Given the description of an element on the screen output the (x, y) to click on. 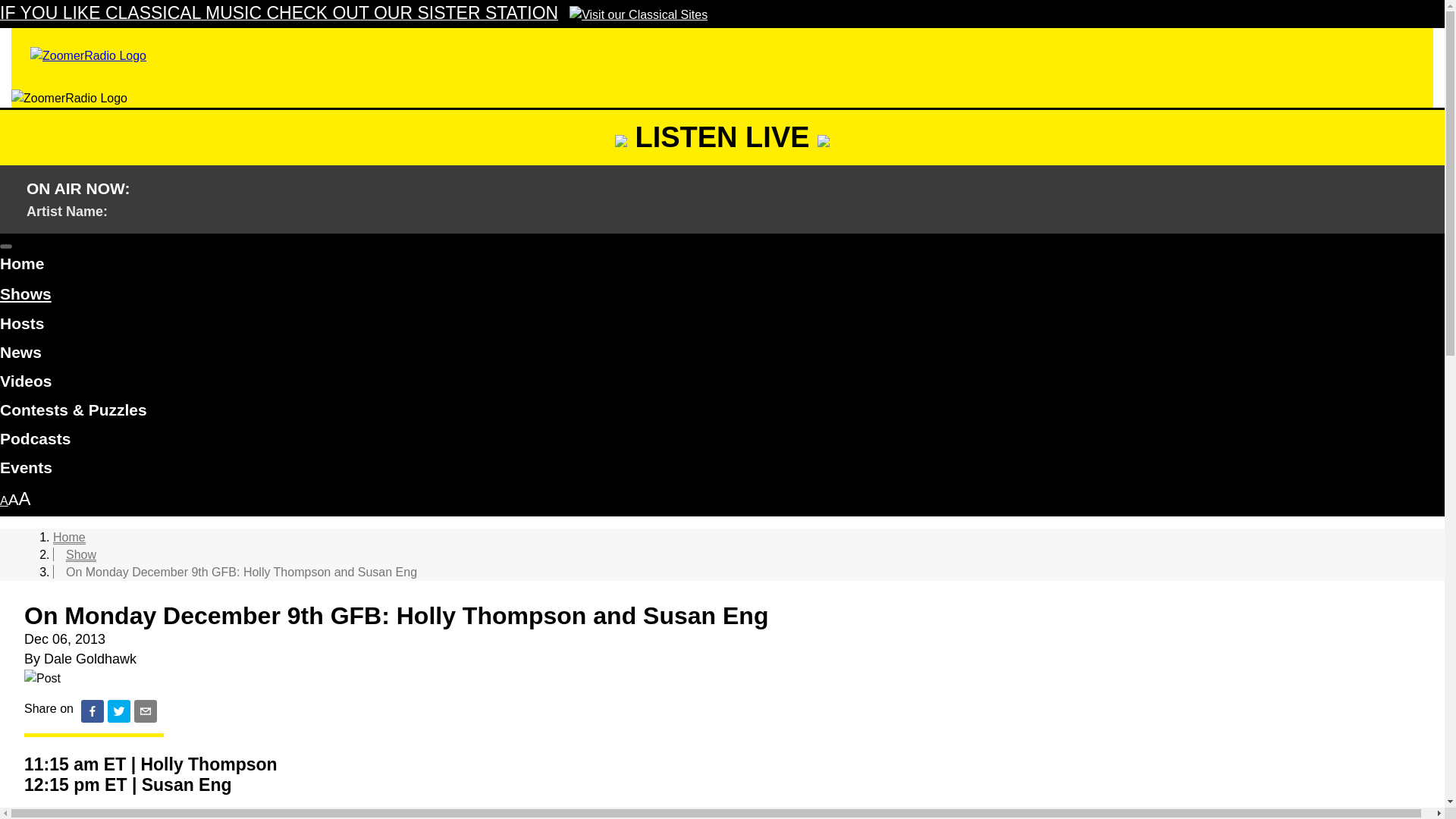
Home (68, 537)
Hosts (722, 326)
IF YOU LIKE CLASSICAL MUSIC CHECK OUT OUR SISTER STATION (353, 14)
Shows (25, 294)
News (722, 354)
Podcasts (722, 440)
LISTEN LIVE (722, 136)
On Monday December 9th GFB: Holly Thompson and Susan Eng (240, 571)
Events (722, 469)
Videos (722, 383)
